Given the description of an element on the screen output the (x, y) to click on. 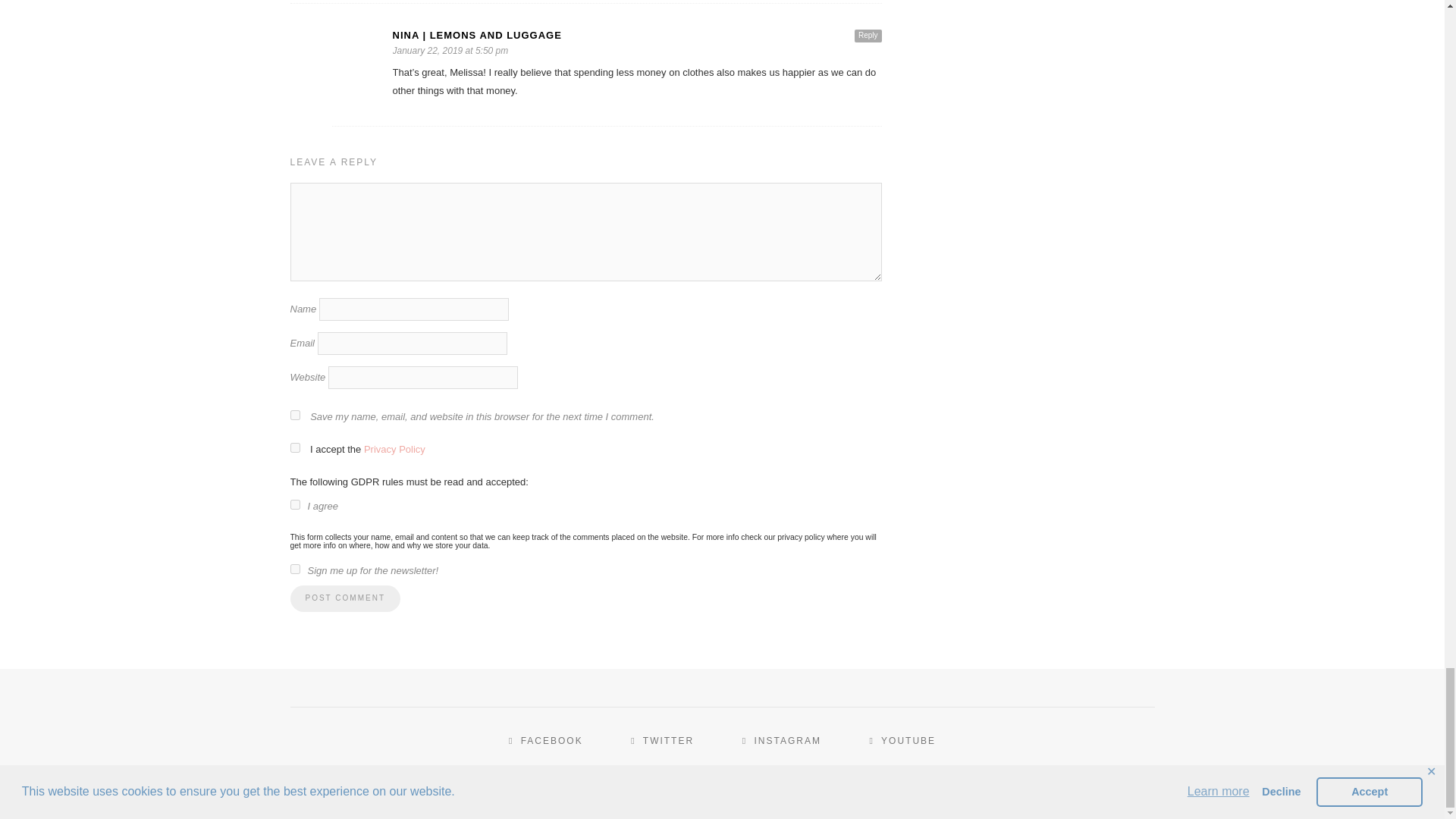
1 (294, 447)
yes (294, 415)
1 (294, 504)
Post Comment (343, 598)
1 (294, 569)
